Given the description of an element on the screen output the (x, y) to click on. 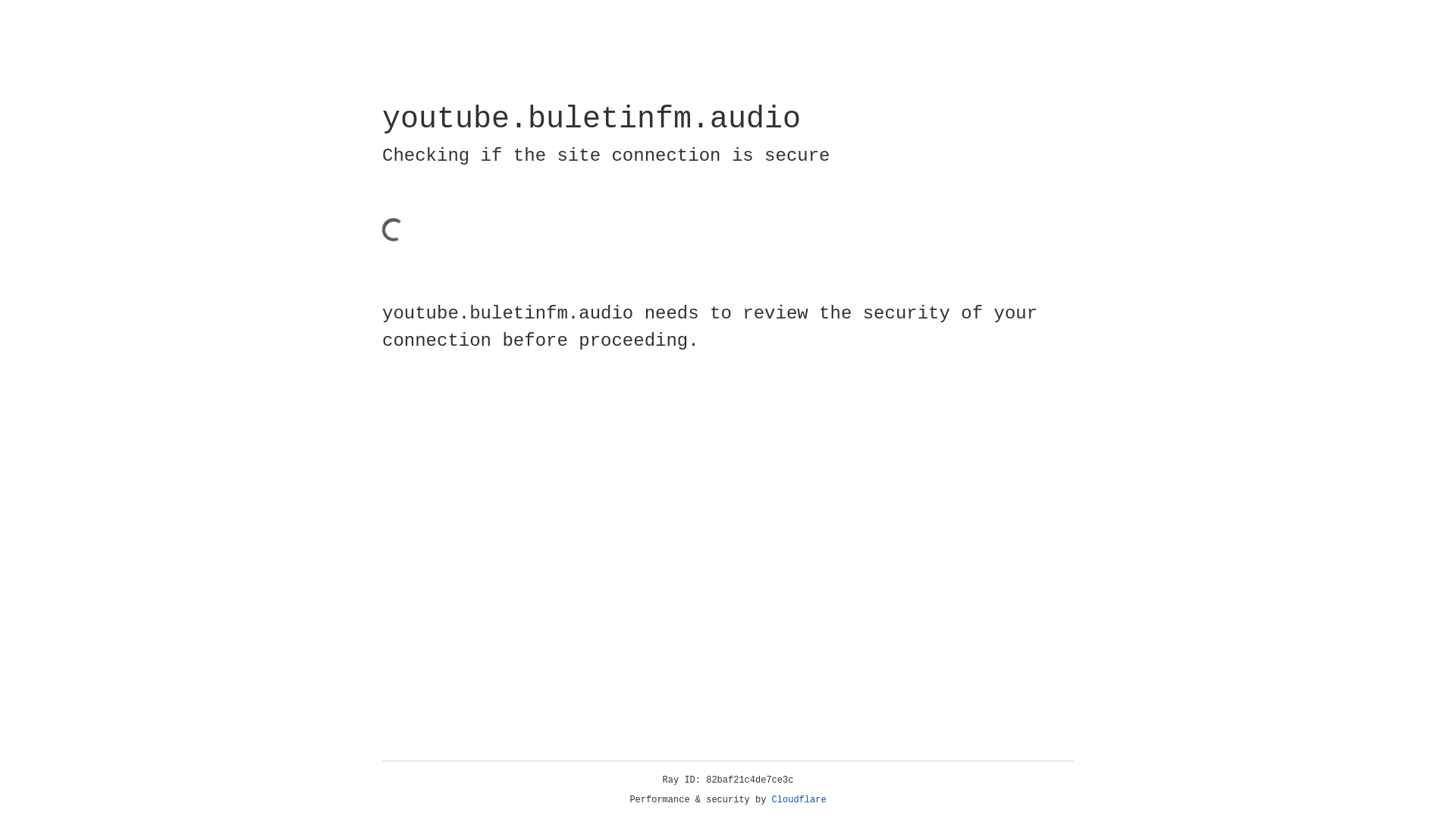
Cloudflare Element type: text (798, 799)
